Given the description of an element on the screen output the (x, y) to click on. 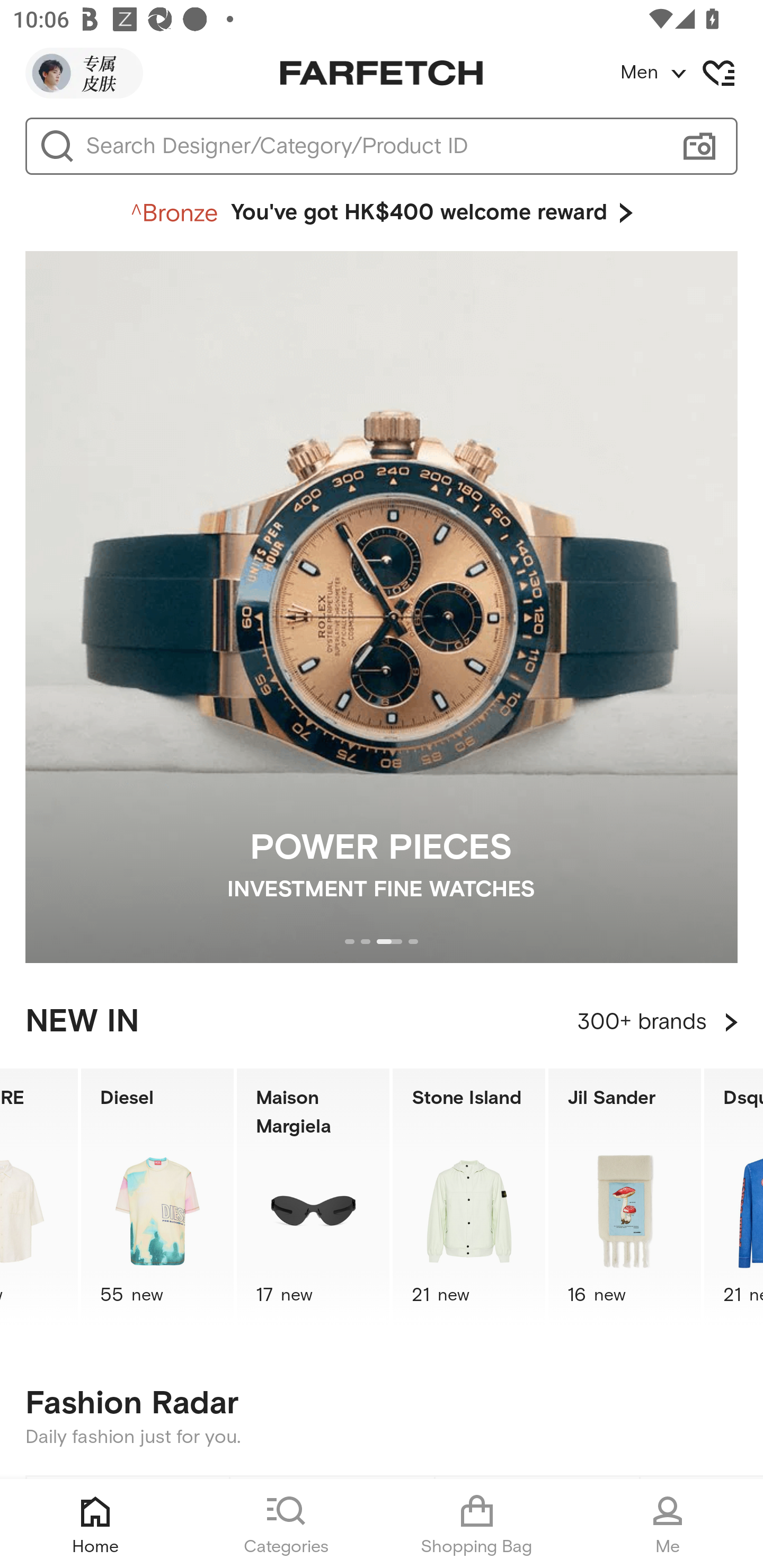
Men (691, 72)
Search Designer/Category/Product ID (373, 146)
You've got HK$400 welcome reward (381, 213)
NEW IN 300+ brands (381, 1021)
Diesel 55  new (156, 1196)
Maison Margiela 17  new (312, 1196)
Stone Island 21  new (468, 1196)
Jil Sander 16  new (624, 1196)
Categories (285, 1523)
Shopping Bag (476, 1523)
Me (667, 1523)
